Given the description of an element on the screen output the (x, y) to click on. 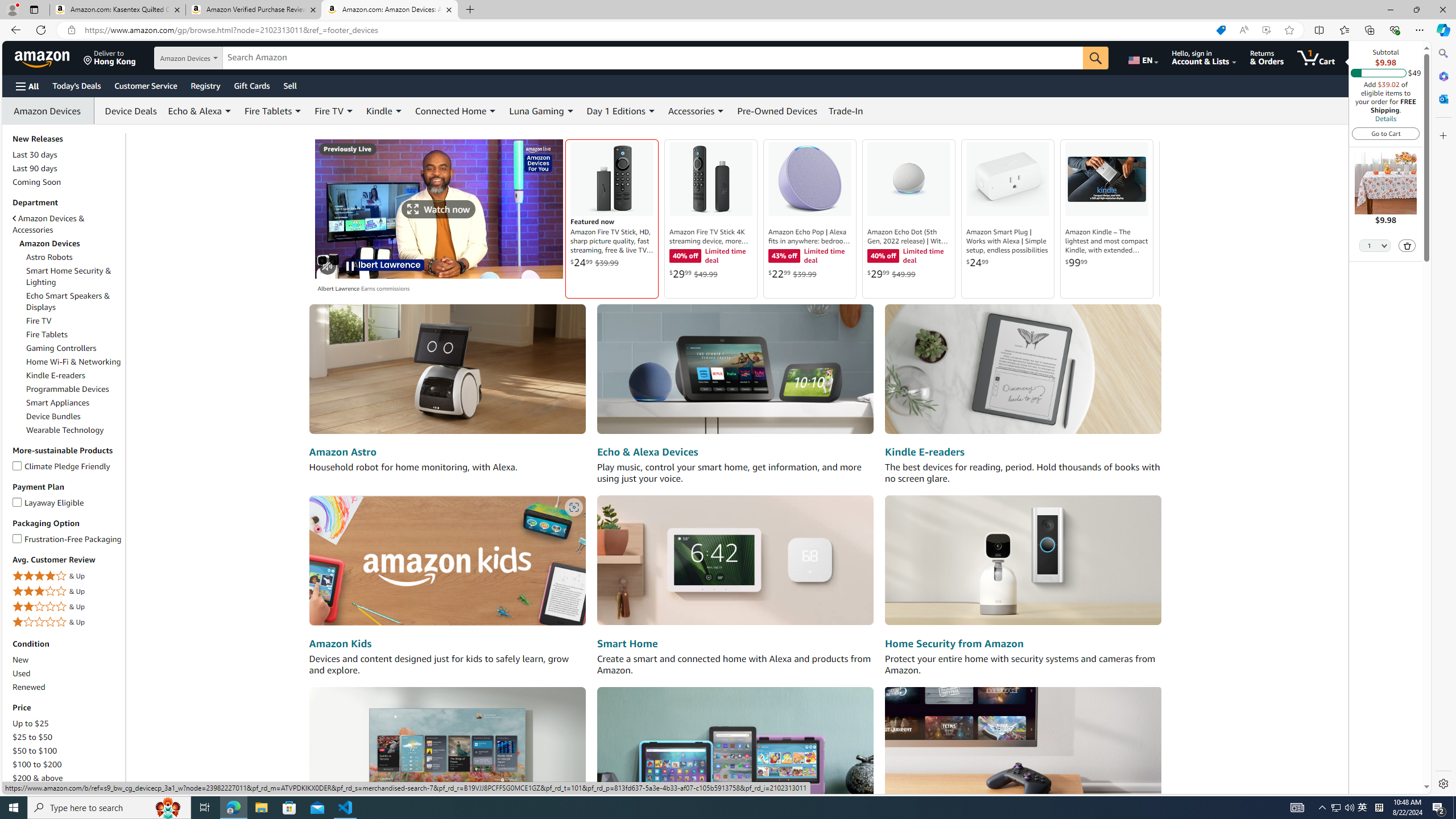
Smart Home devices (734, 560)
Echo & Alexa (194, 110)
Smart Home Security & Lighting (74, 276)
Expand Day 1 Editions (651, 111)
Echo & Alexa (199, 110)
Enhance video (1266, 29)
Last 30 days (67, 154)
Pre-Owned Devices (776, 110)
Details (1385, 118)
Fire Tablet devices (734, 751)
Up to $25 (67, 722)
Device Deals (128, 110)
Amazon Kids (447, 560)
